Given the description of an element on the screen output the (x, y) to click on. 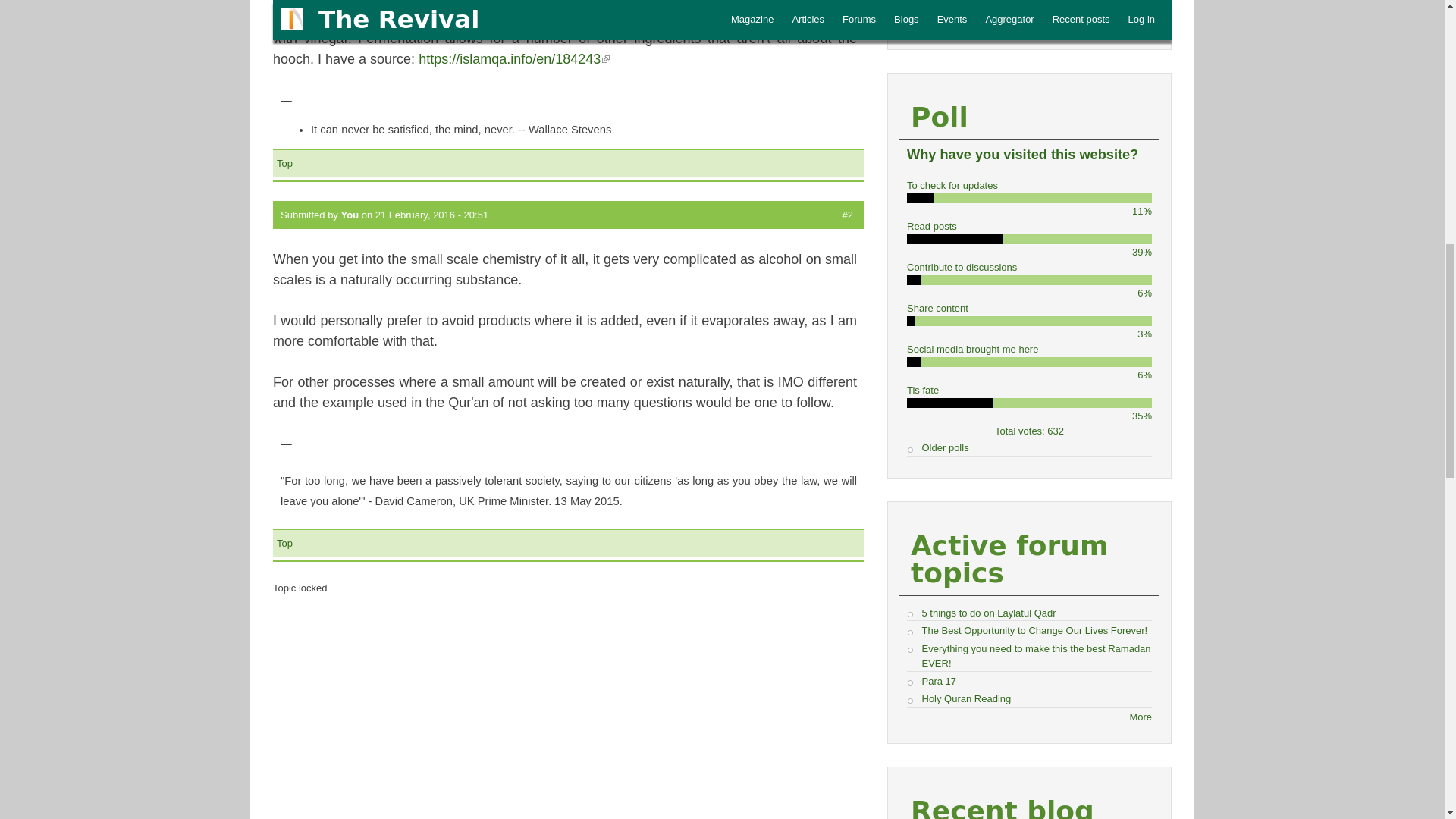
You (349, 214)
5 things to do on Laylatul Qadr (989, 612)
Everything you need to make this the best Ramadan EVER! (1036, 655)
Older polls (945, 447)
Top (284, 163)
The Best Opportunity to Change Our Lives Forever! (1034, 630)
View user profile. (349, 214)
Top (284, 542)
Jump to top of page (284, 163)
Para 17 (938, 680)
Jump to top of page (284, 542)
